Given the description of an element on the screen output the (x, y) to click on. 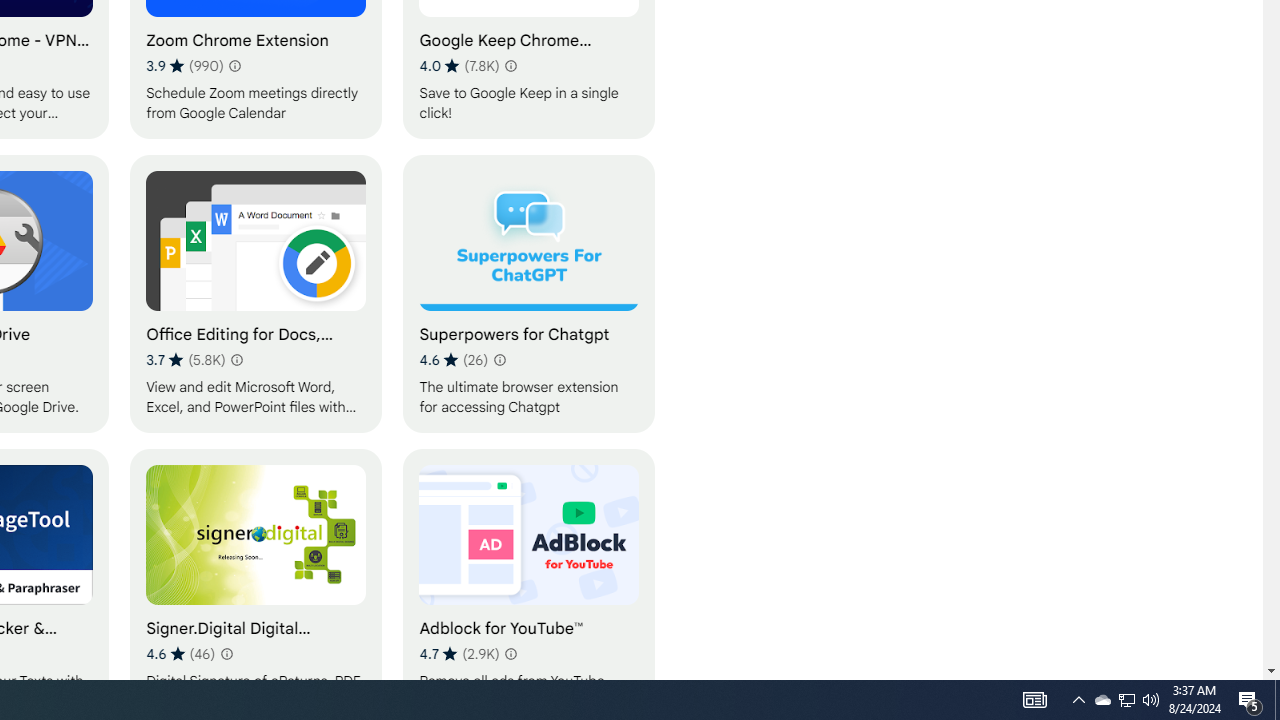
Average rating 4.6 out of 5 stars. 26 ratings. (453, 359)
Average rating 3.7 out of 5 stars. 5.8K ratings. (185, 359)
Average rating 4.6 out of 5 stars. 46 ratings. (180, 653)
Learn more about results and reviews "Zoom Chrome Extension" (234, 65)
Superpowers for Chatgpt (529, 293)
Average rating 4.7 out of 5 stars. 2.9K ratings. (459, 653)
Average rating 3.9 out of 5 stars. 990 ratings. (184, 66)
Office Editing for Docs, Sheets & Slides (256, 293)
Average rating 4.0 out of 5 stars. 7.8K ratings. (459, 66)
